Given the description of an element on the screen output the (x, y) to click on. 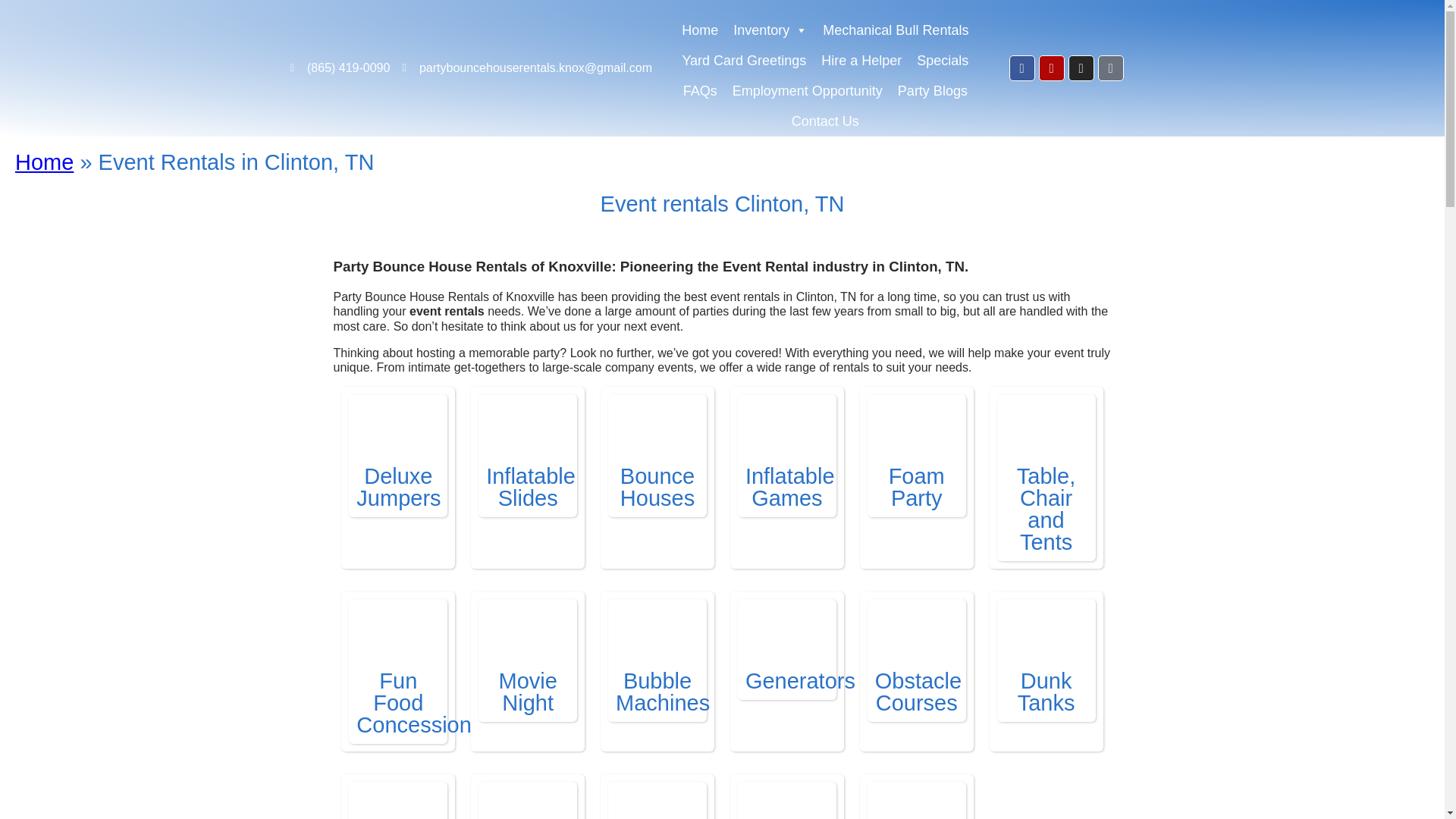
Yard Card Greetings (743, 52)
Mechanical Bull Rentals (895, 22)
Inventory (770, 22)
Home (699, 22)
